Given the description of an element on the screen output the (x, y) to click on. 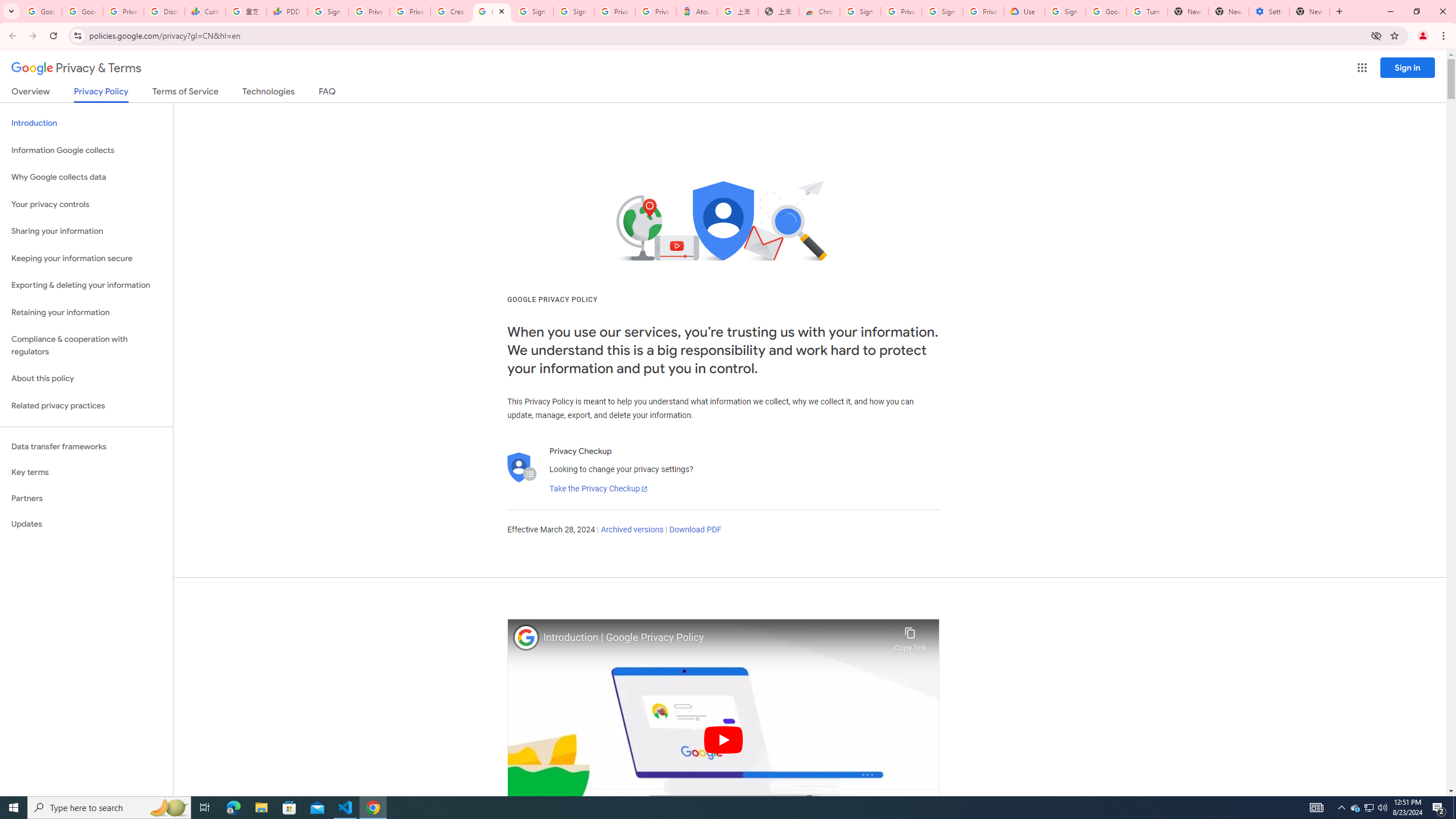
Introduction | Google Privacy Policy (715, 637)
Related privacy practices (86, 405)
Settings - System (1268, 11)
Sign in - Google Accounts (532, 11)
Play (723, 739)
